Given the description of an element on the screen output the (x, y) to click on. 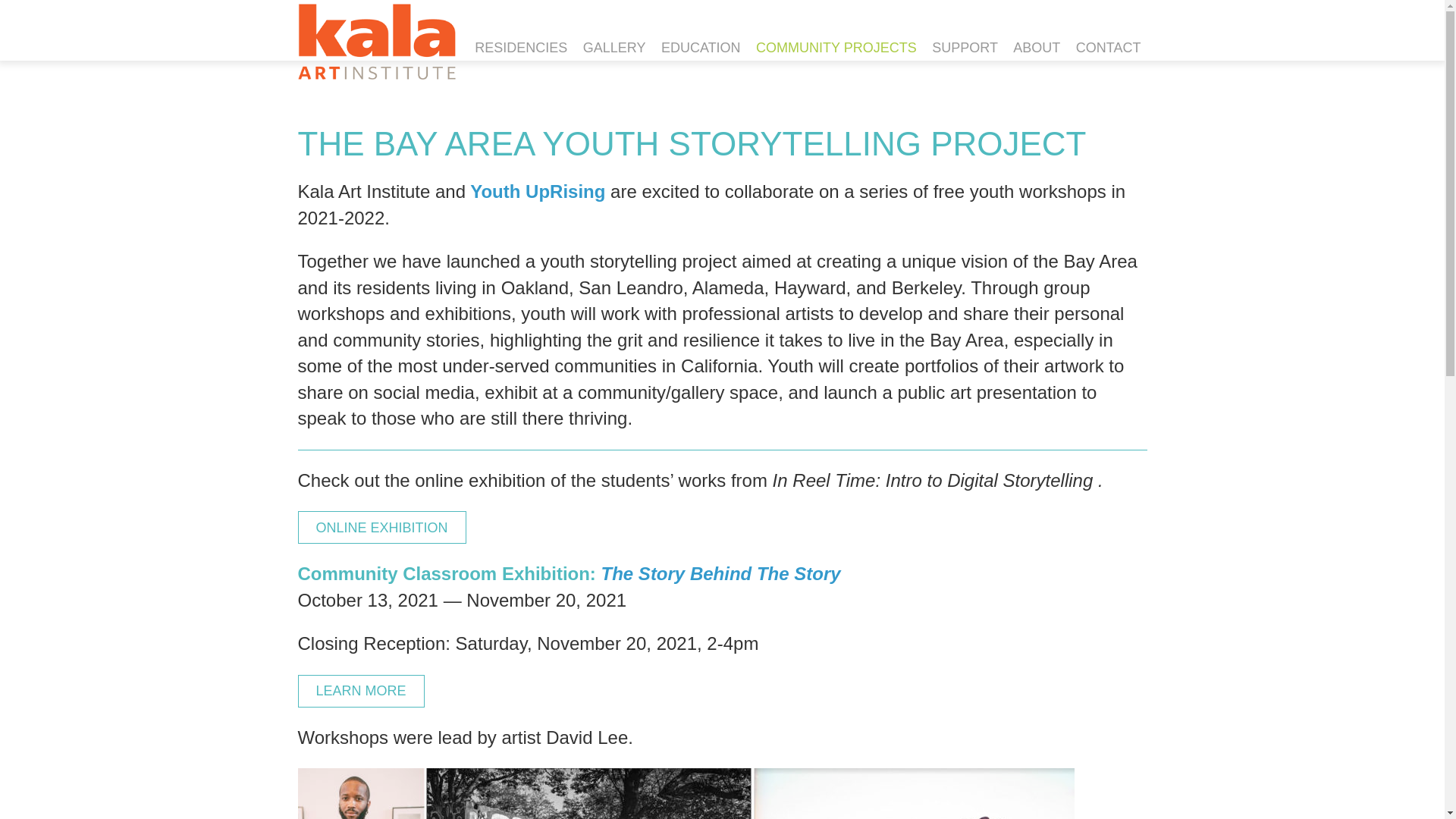
GALLERY (614, 48)
COMMUNITY PROJECTS (836, 48)
Kala Art Institute (375, 41)
RESIDENCIES (520, 48)
EDUCATION (700, 48)
SUPPORT (965, 48)
